Given the description of an element on the screen output the (x, y) to click on. 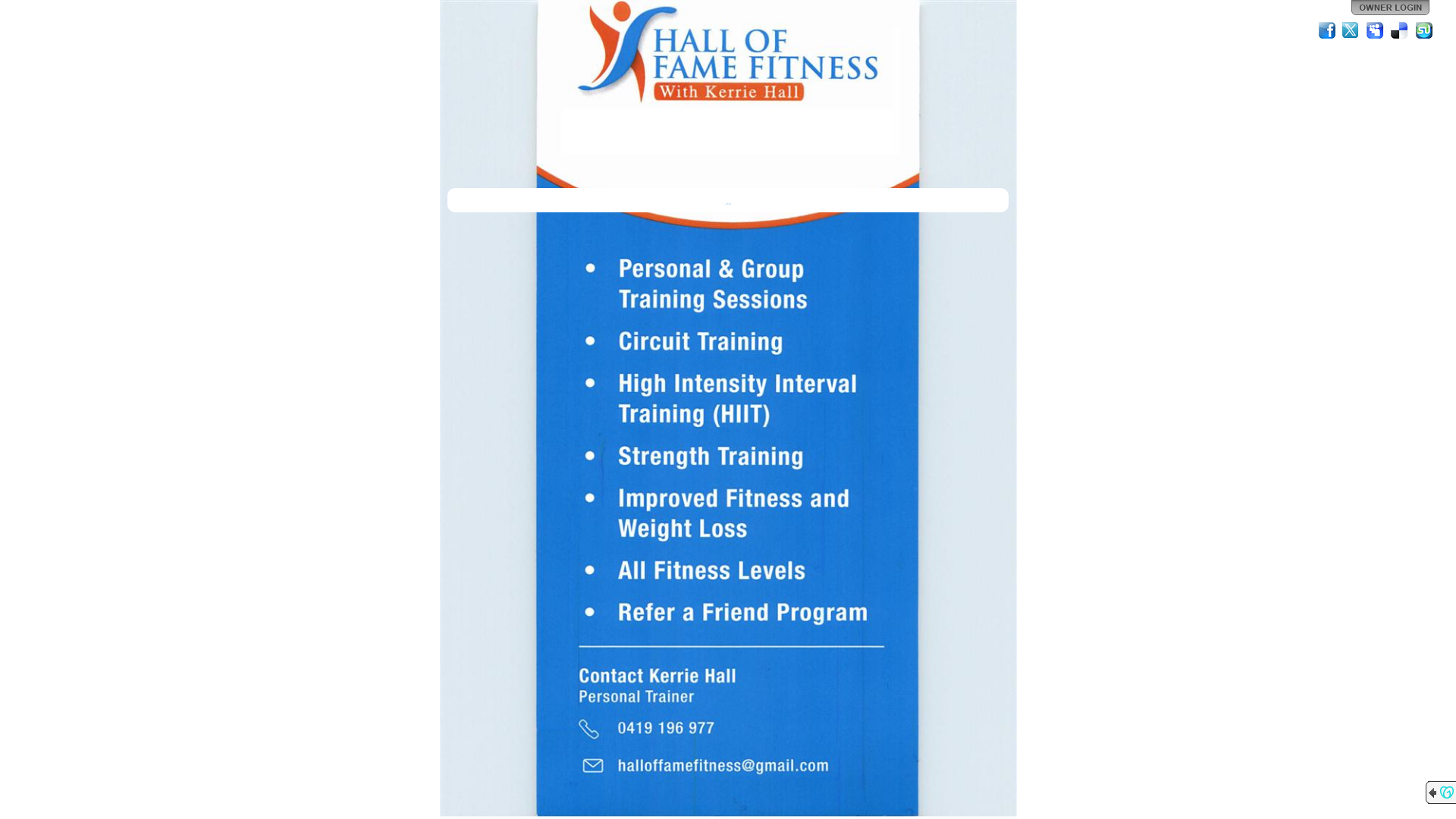
MySpace Element type: text (1375, 29)
Facebook Element type: text (1326, 29)
Twitter Element type: text (1350, 29)
StumbleUpon Element type: text (1423, 29)
Del.icio.us Element type: text (1399, 29)
